Given the description of an element on the screen output the (x, y) to click on. 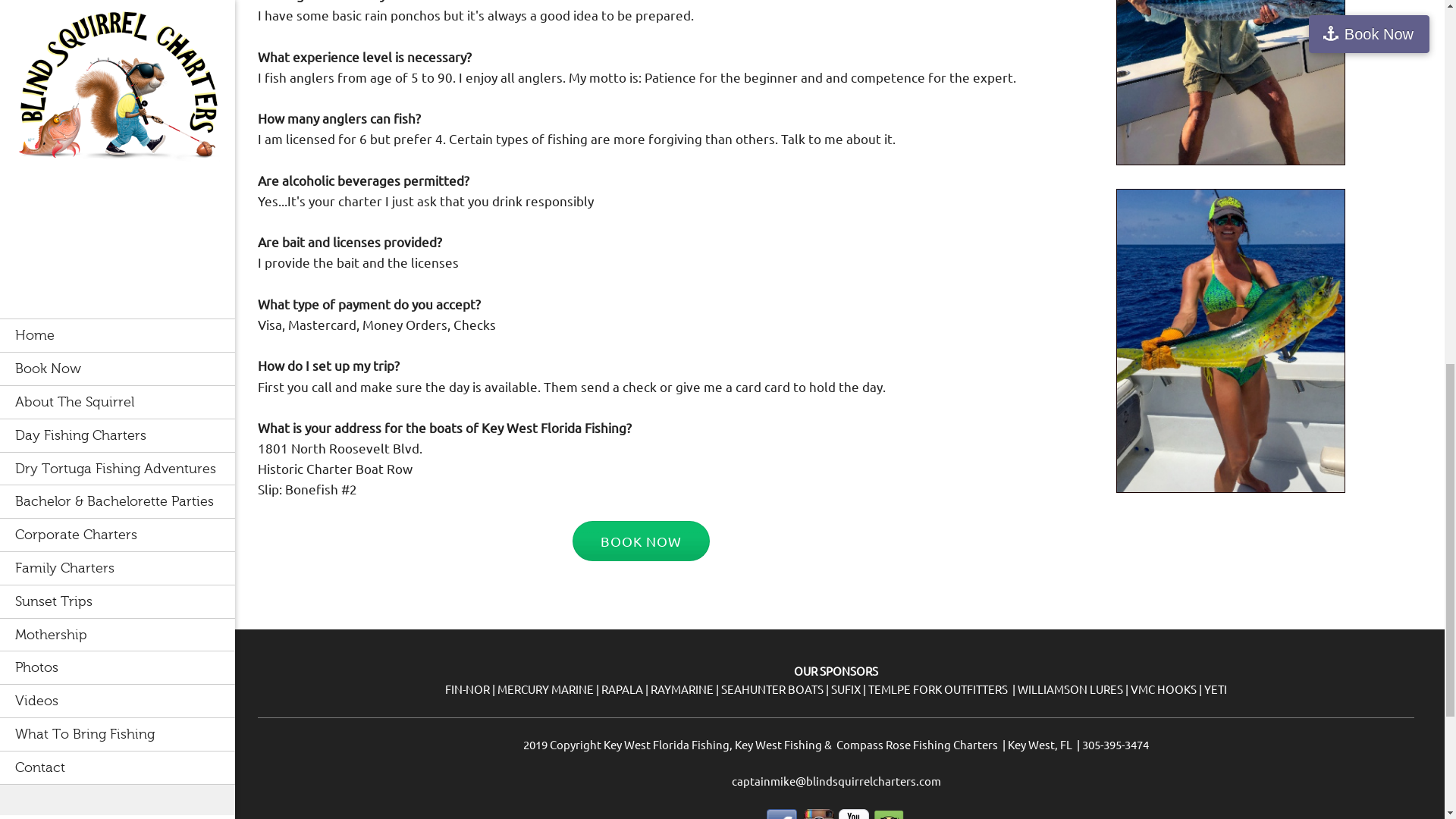
MERCURY MARINE (545, 689)
VMC HOOKS (1163, 689)
FareHarbor (1342, 64)
Key West Fishing (778, 744)
WILLIAMSON LURES (1069, 689)
SUFIX (845, 689)
RAYMARINE (681, 689)
FIN-NOR (467, 689)
YETI (1215, 689)
Key West Florida Fishing, (669, 744)
RAPALA (622, 689)
Compass Rose Fishing Charters (916, 744)
TEMLPE FORK OUTFITTERS (937, 689)
